Given the description of an element on the screen output the (x, y) to click on. 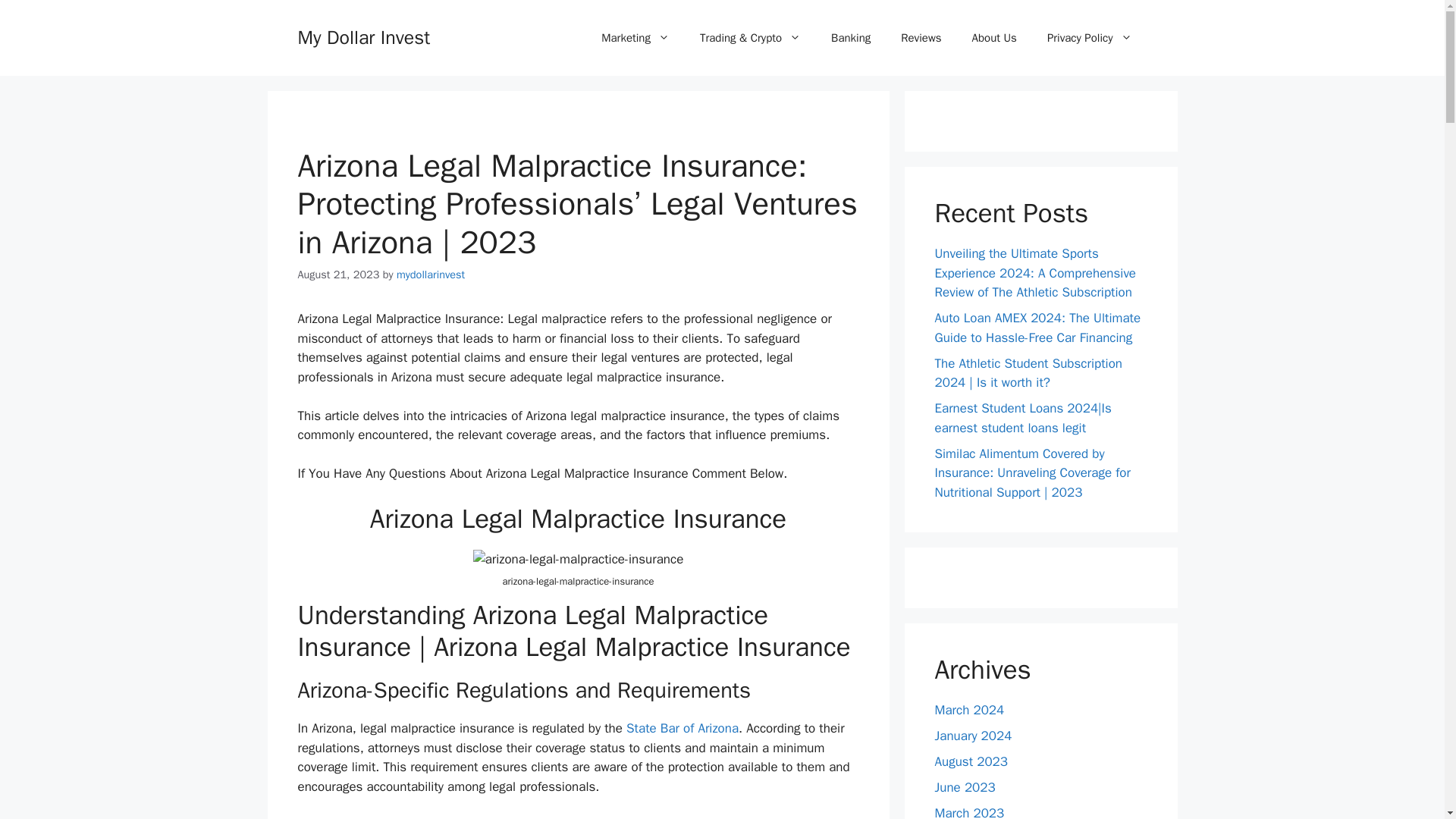
Privacy Policy (1089, 37)
Banking (850, 37)
Marketing (635, 37)
Reviews (920, 37)
State Bar of Arizona (682, 728)
January 2024 (972, 735)
June 2023 (964, 787)
mydollarinvest (430, 274)
My Dollar Invest (363, 37)
View all posts by mydollarinvest (430, 274)
